Given the description of an element on the screen output the (x, y) to click on. 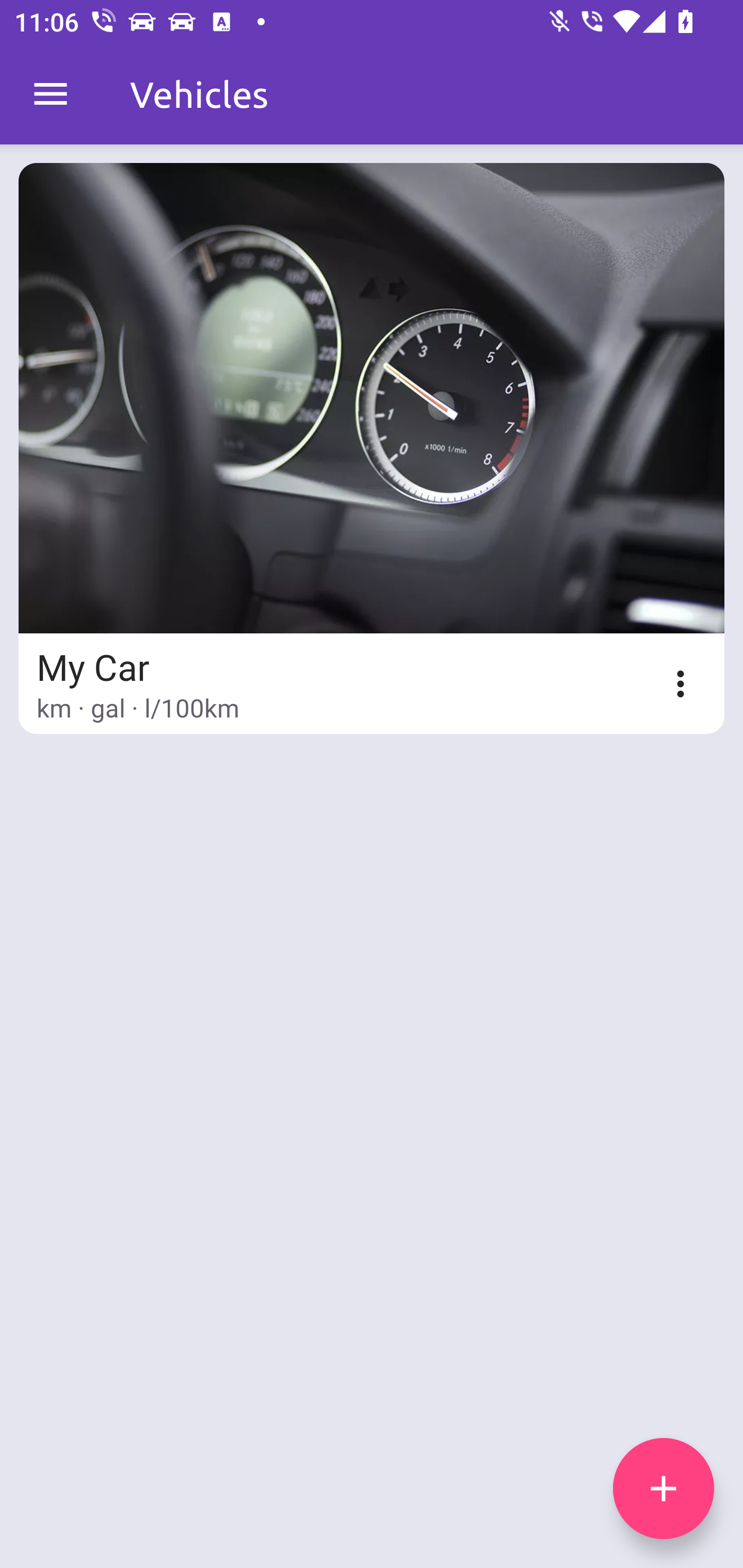
MenuDrawer (50, 93)
My Car km · gal · l/100km (371, 448)
add icon (663, 1488)
